Given the description of an element on the screen output the (x, y) to click on. 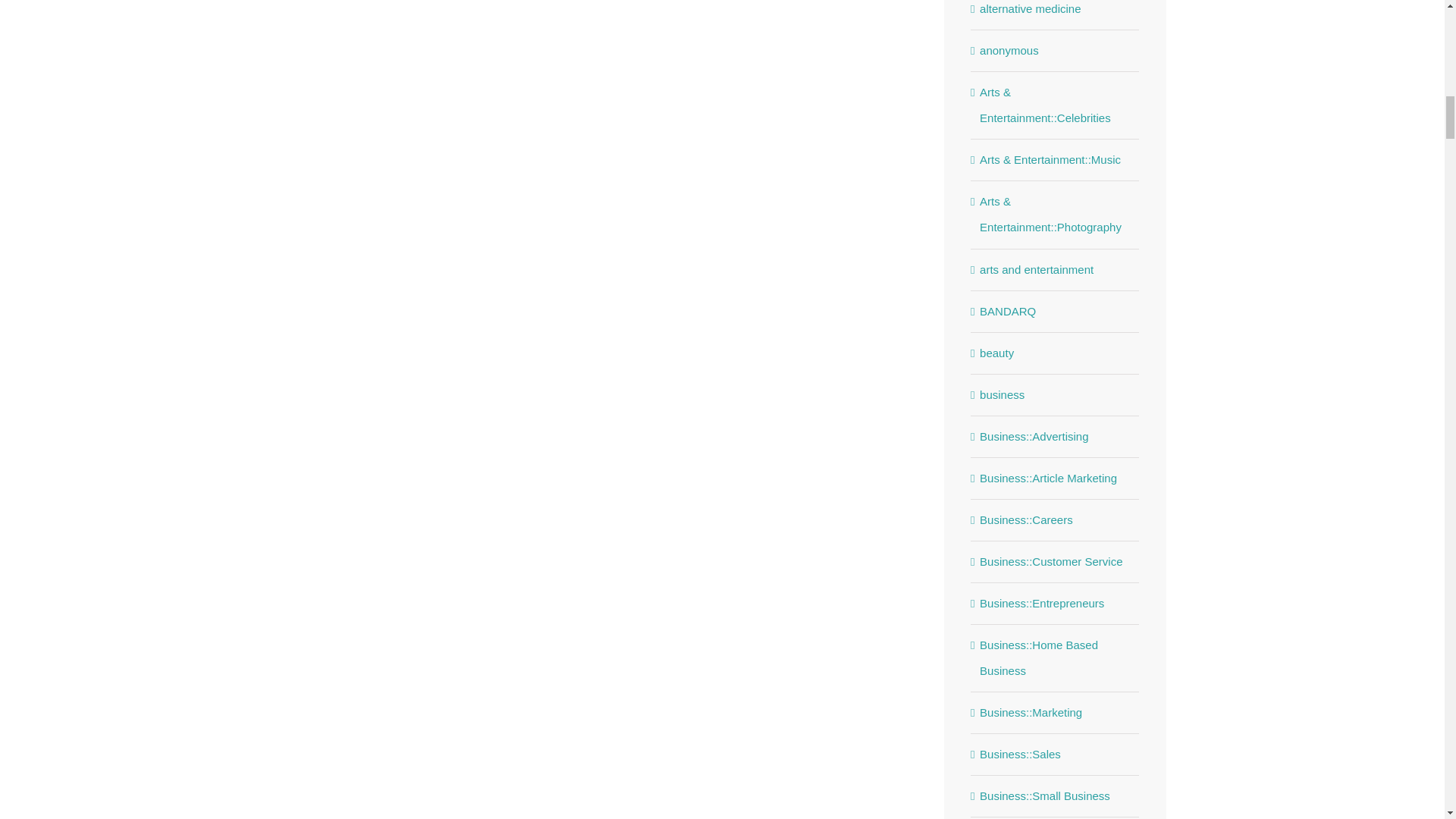
arts and entertainment (1055, 269)
beauty (1055, 353)
alternative medicine (1055, 11)
business (1055, 394)
anonymous (1055, 50)
BANDARQ (1055, 311)
